Given the description of an element on the screen output the (x, y) to click on. 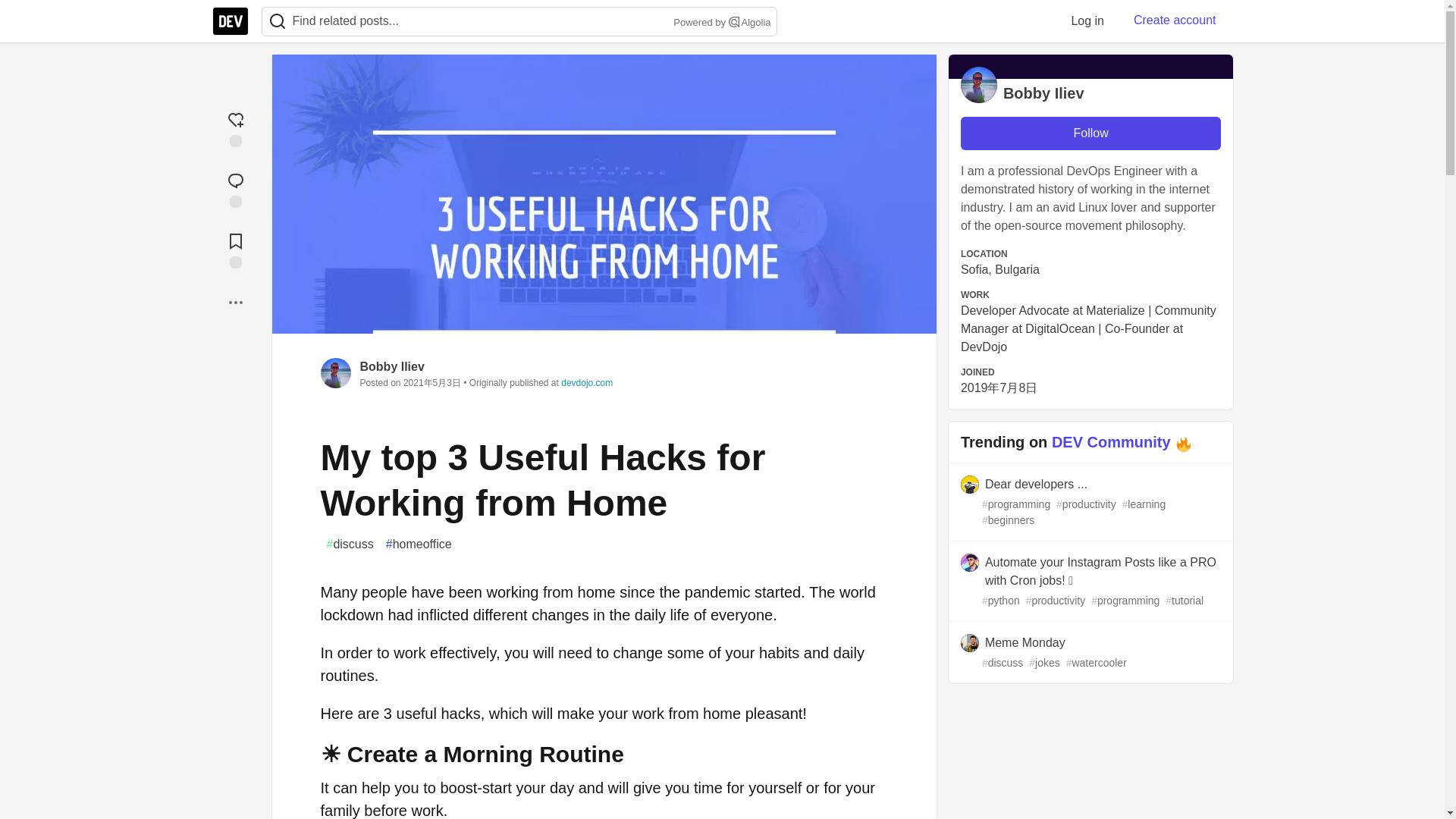
Search (734, 21)
devdojo.com (586, 382)
Log in (1087, 20)
Search (276, 21)
Bobby Iliev (391, 366)
More... (234, 302)
Create account (1174, 20)
Search (277, 21)
More... (234, 302)
Powered by Search Algolia (720, 22)
